Given the description of an element on the screen output the (x, y) to click on. 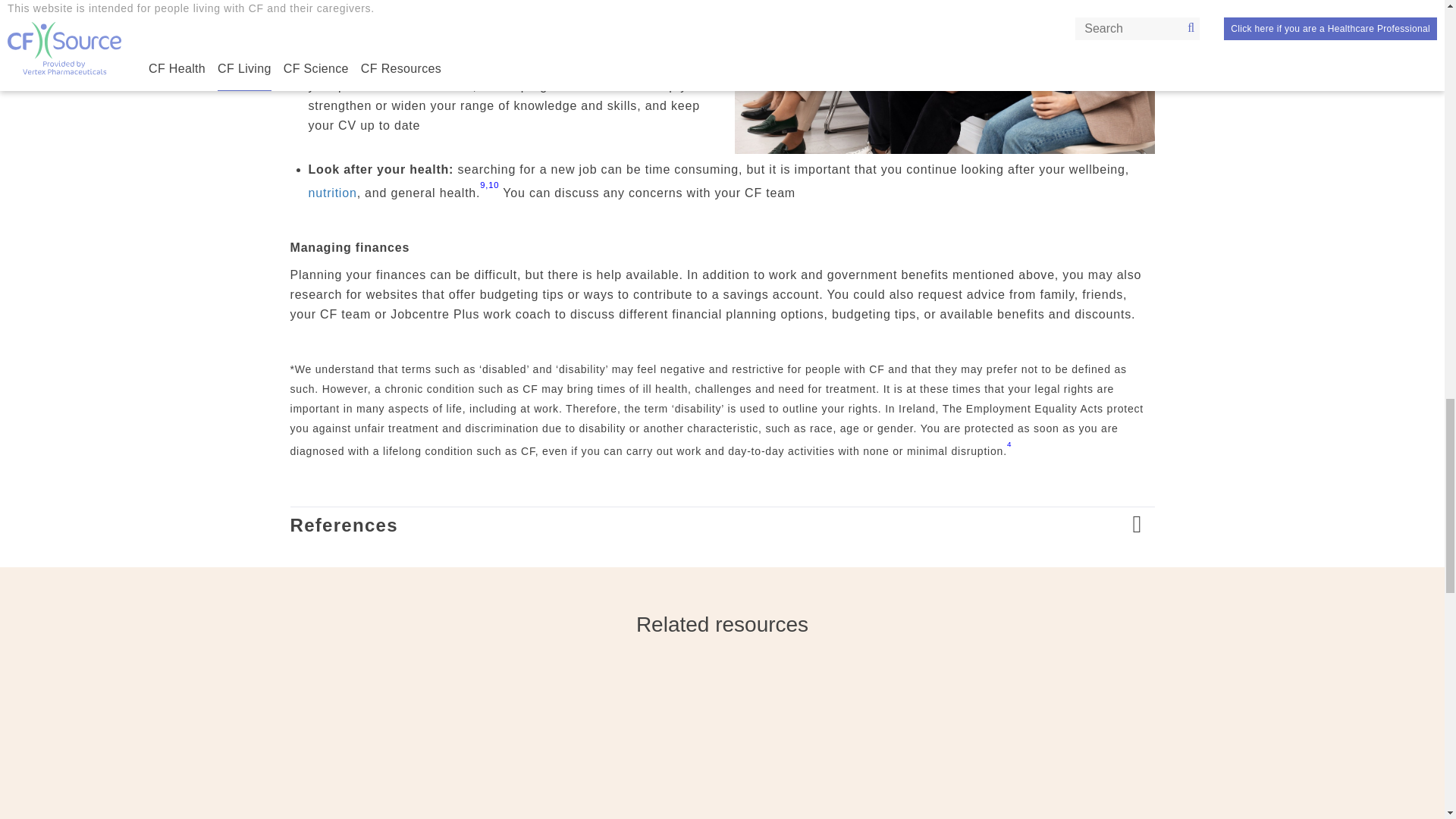
References (721, 524)
nutrition (331, 192)
Citizens Information (417, 6)
